Given the description of an element on the screen output the (x, y) to click on. 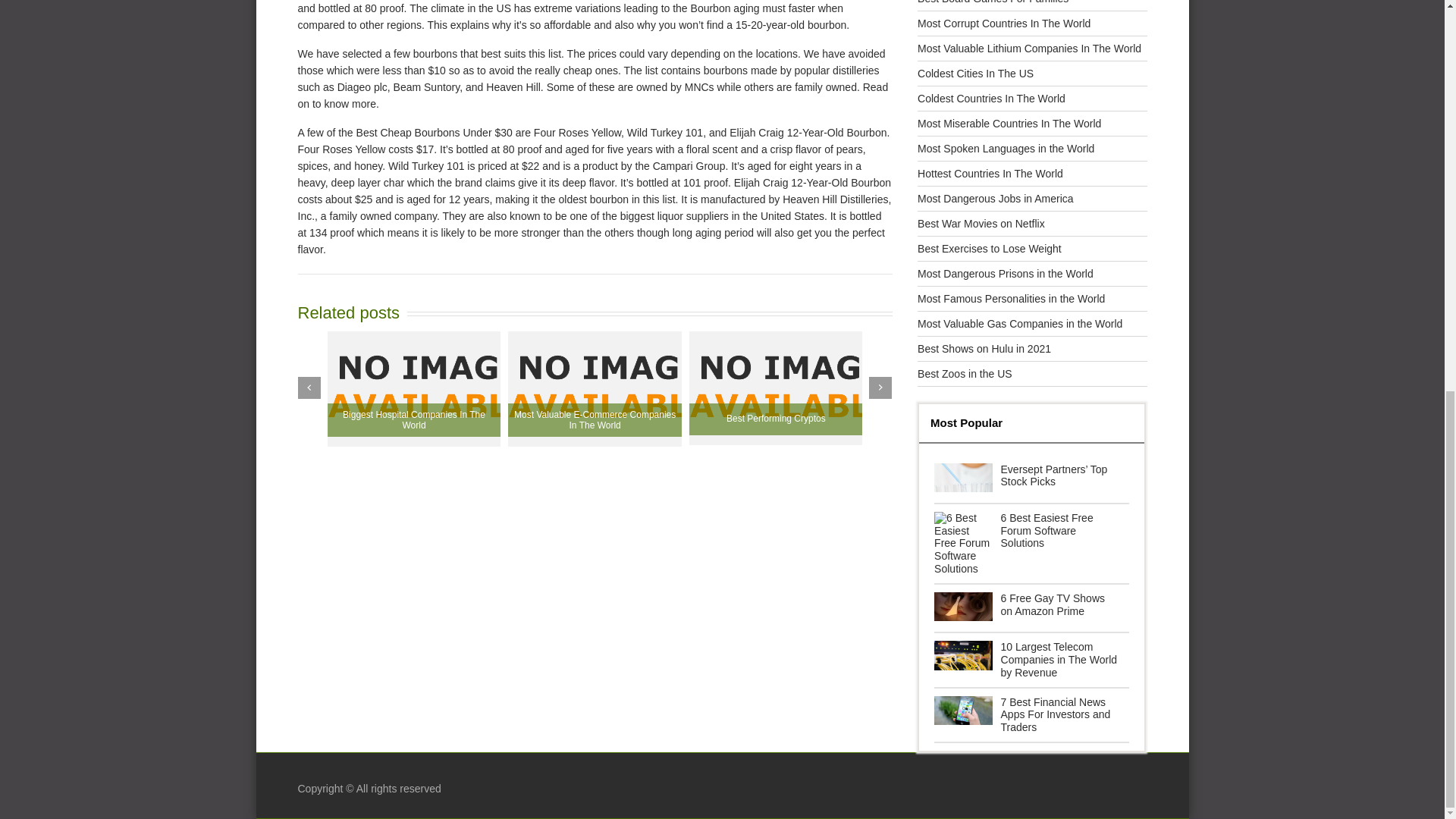
6 Free Gay TV Shows on Amazon Prime (1031, 608)
Most Valuable E-Commerce Companies In The World (594, 389)
Biggest Hospital Companies In The World (413, 389)
7 Best Financial News Apps For Investors and Traders (1031, 714)
Best Board Games For Families (992, 2)
10 Largest Telecom Companies in The World by Revenue (1031, 659)
6 Best Easiest Free Forum Software Solutions (1031, 543)
Best Performing Cryptos (775, 388)
